Given the description of an element on the screen output the (x, y) to click on. 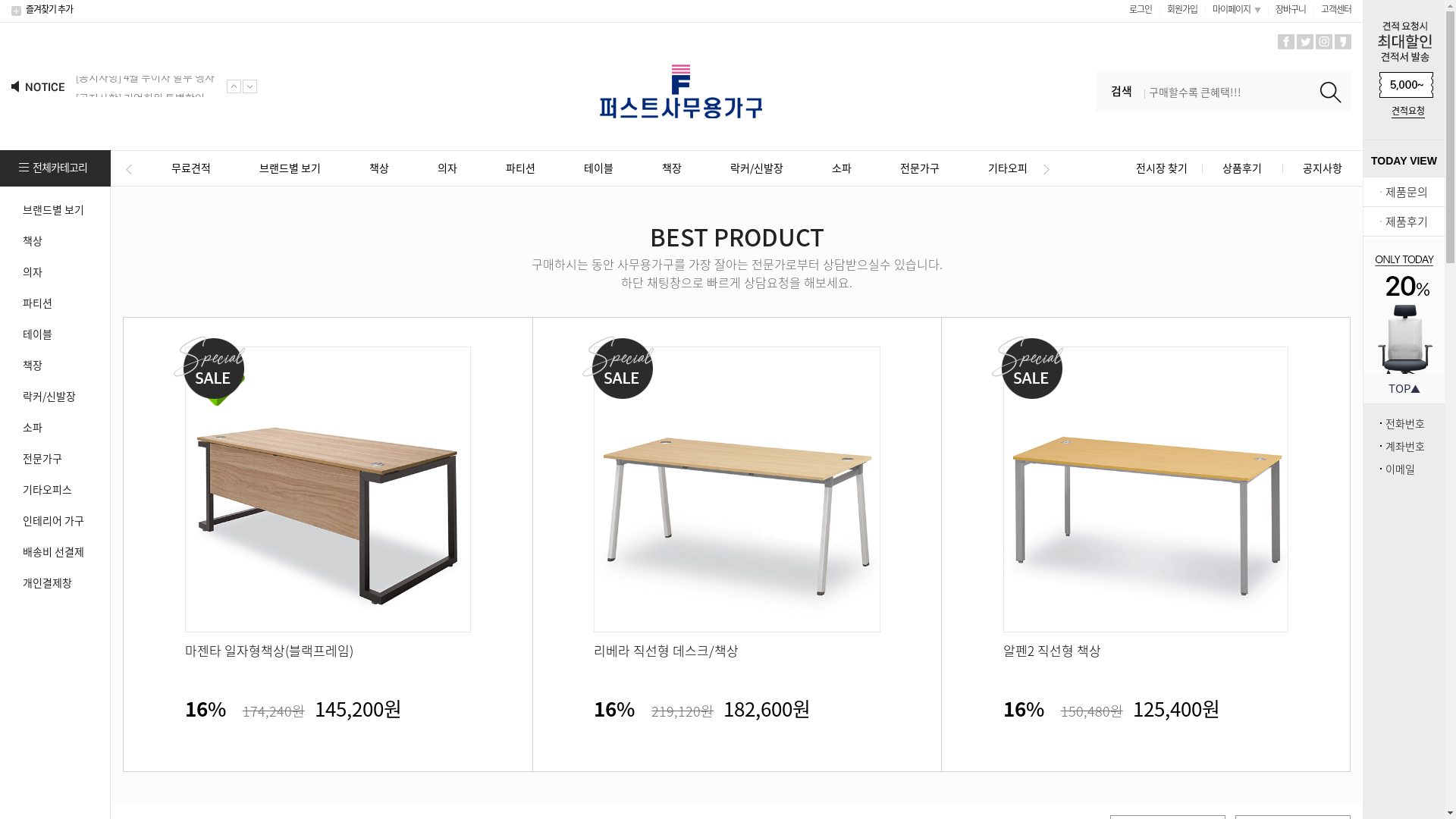
Next Element type: text (1046, 168)
Previous Element type: text (128, 168)
banner Element type: hover (1404, 52)
logo Element type: hover (680, 91)
banner Element type: hover (1404, 304)
